Given the description of an element on the screen output the (x, y) to click on. 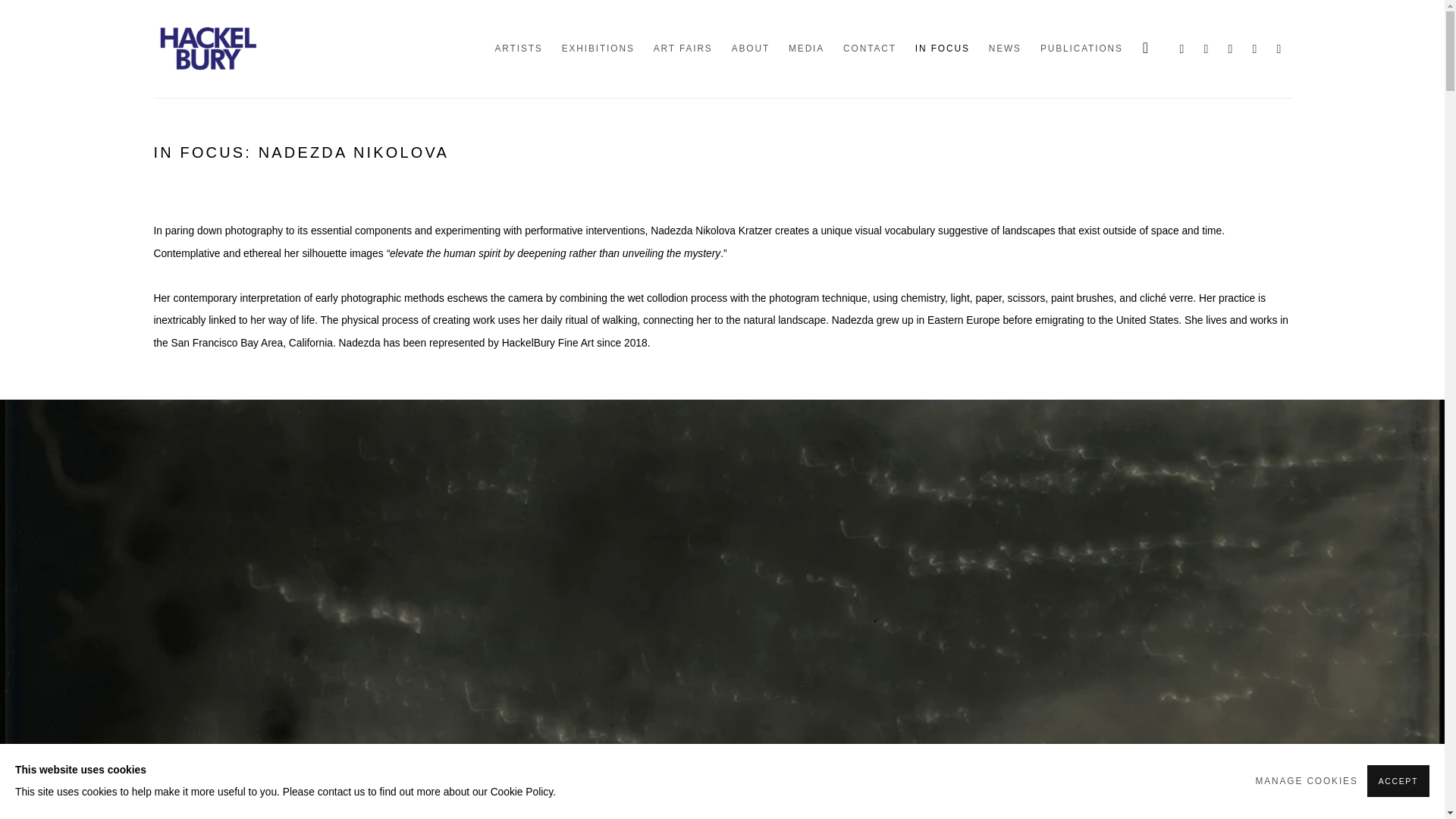
Join the mailing list (1253, 48)
ABOUT (751, 48)
PUBLICATIONS (1081, 48)
HACKELBURY FINE ART (1229, 48)
ART FAIRS (205, 48)
Send an email (1205, 48)
MEDIA (683, 48)
ARTISTS (1278, 48)
